Given the description of an element on the screen output the (x, y) to click on. 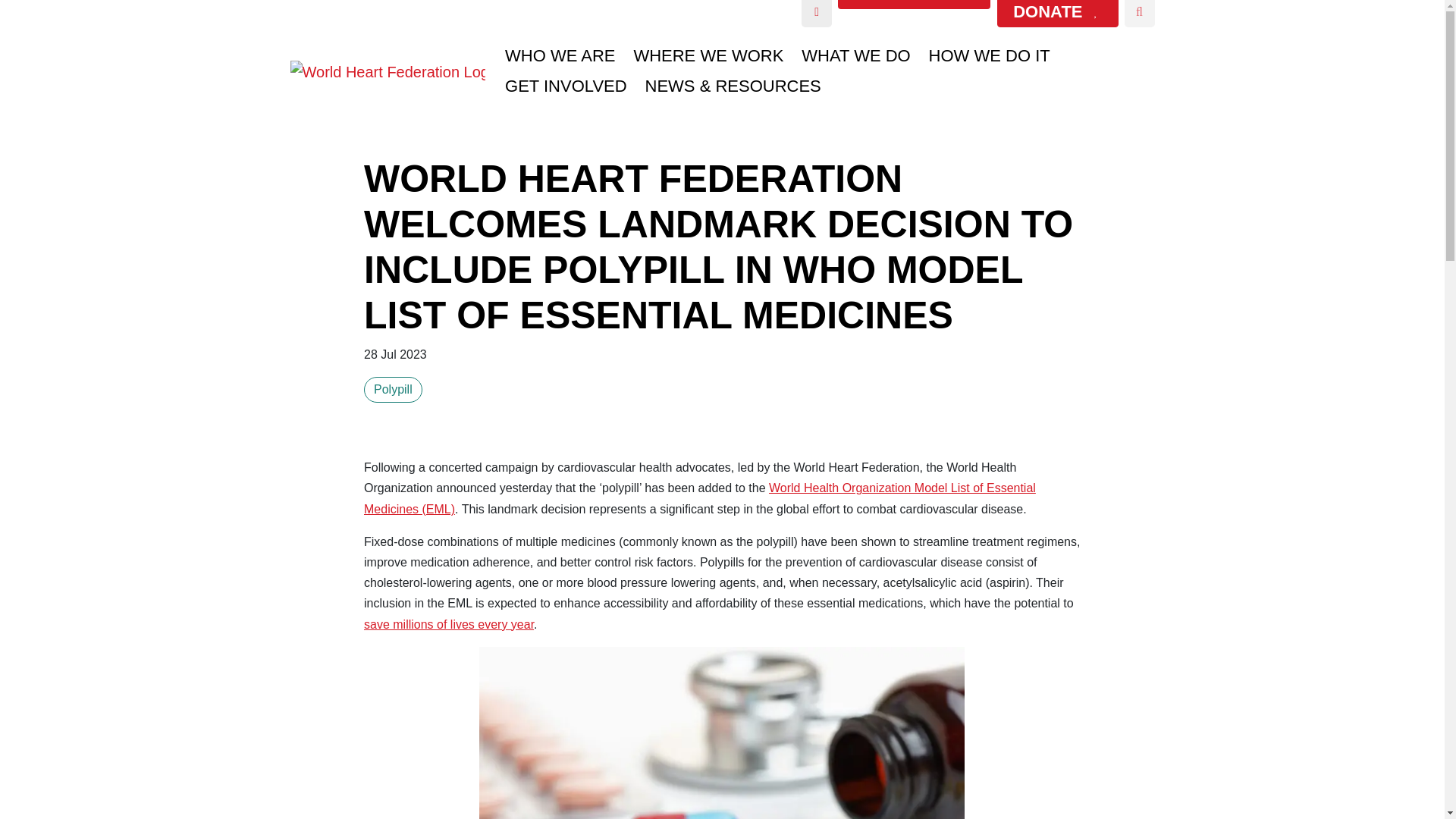
WHO WE ARE (560, 55)
WHAT WE DO (855, 55)
DONATE (1057, 13)
LOG INTO MY WHF (816, 13)
WHERE WE WORK (708, 55)
